Given the description of an element on the screen output the (x, y) to click on. 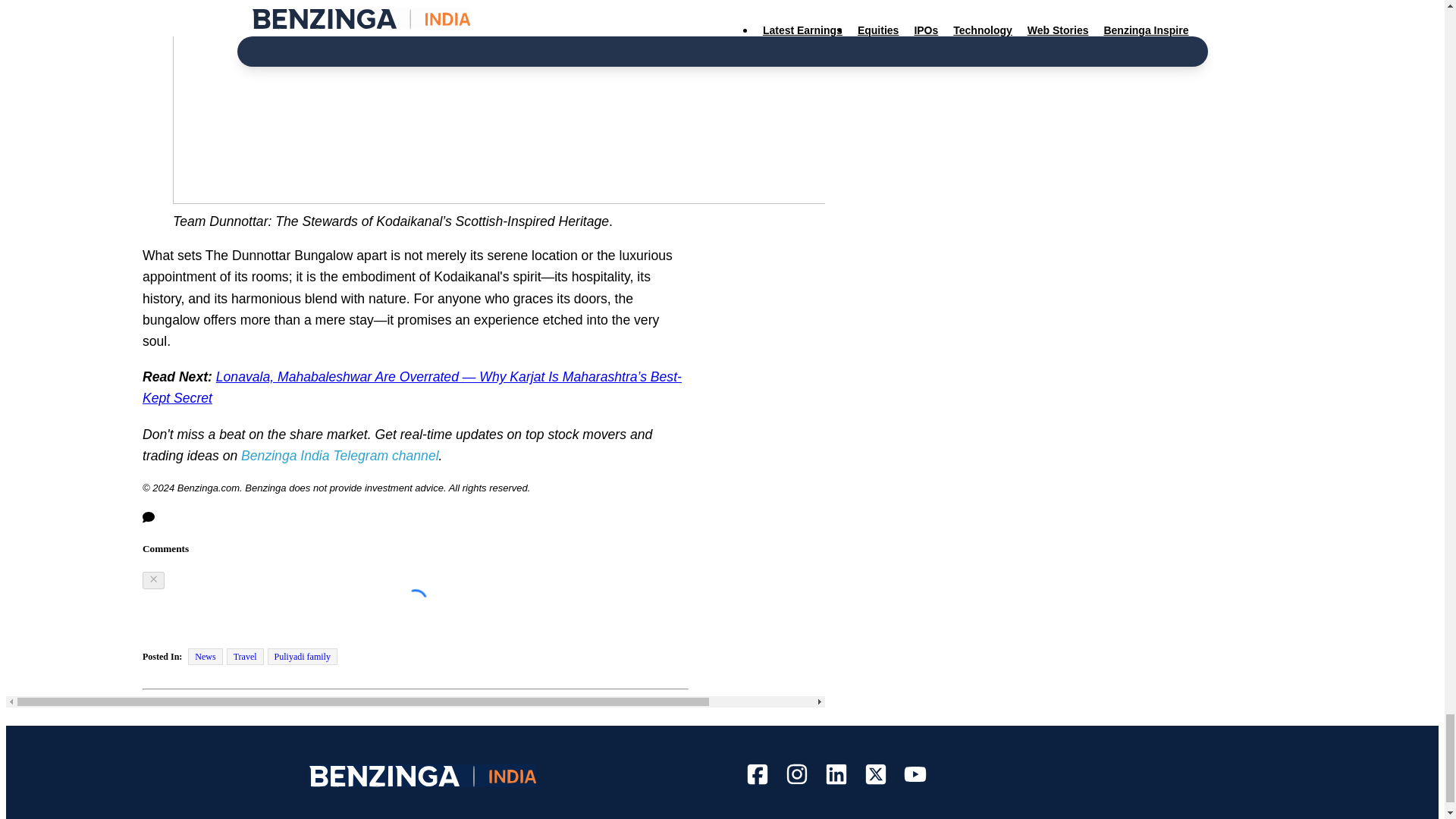
Close menu (153, 579)
Puliyadi family (302, 656)
News (204, 656)
Travel (245, 656)
Benzinga India Telegram channel (340, 455)
